Given the description of an element on the screen output the (x, y) to click on. 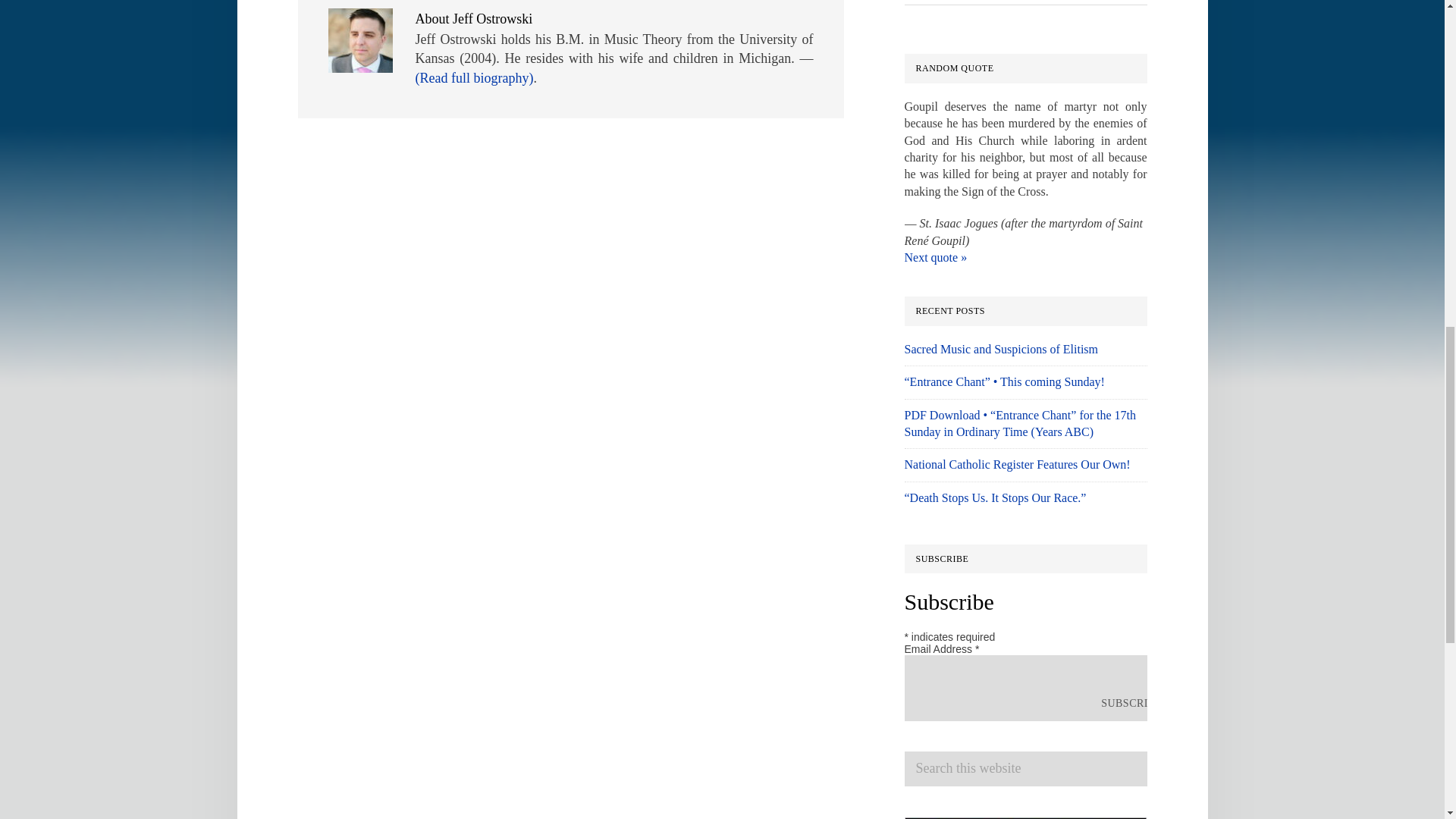
Subscribe (1131, 703)
